Given the description of an element on the screen output the (x, y) to click on. 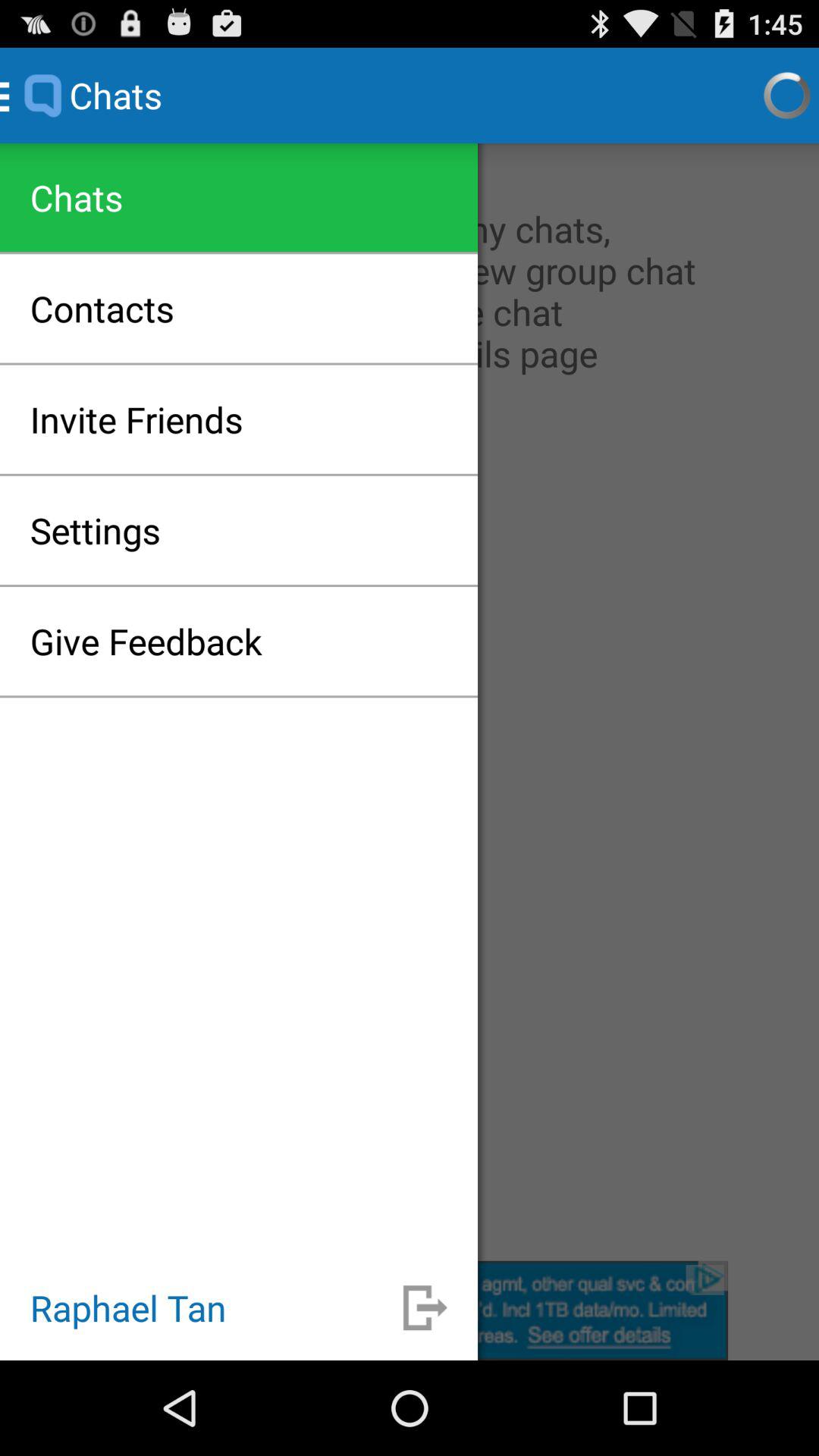
launch the icon below the chats app (409, 701)
